Given the description of an element on the screen output the (x, y) to click on. 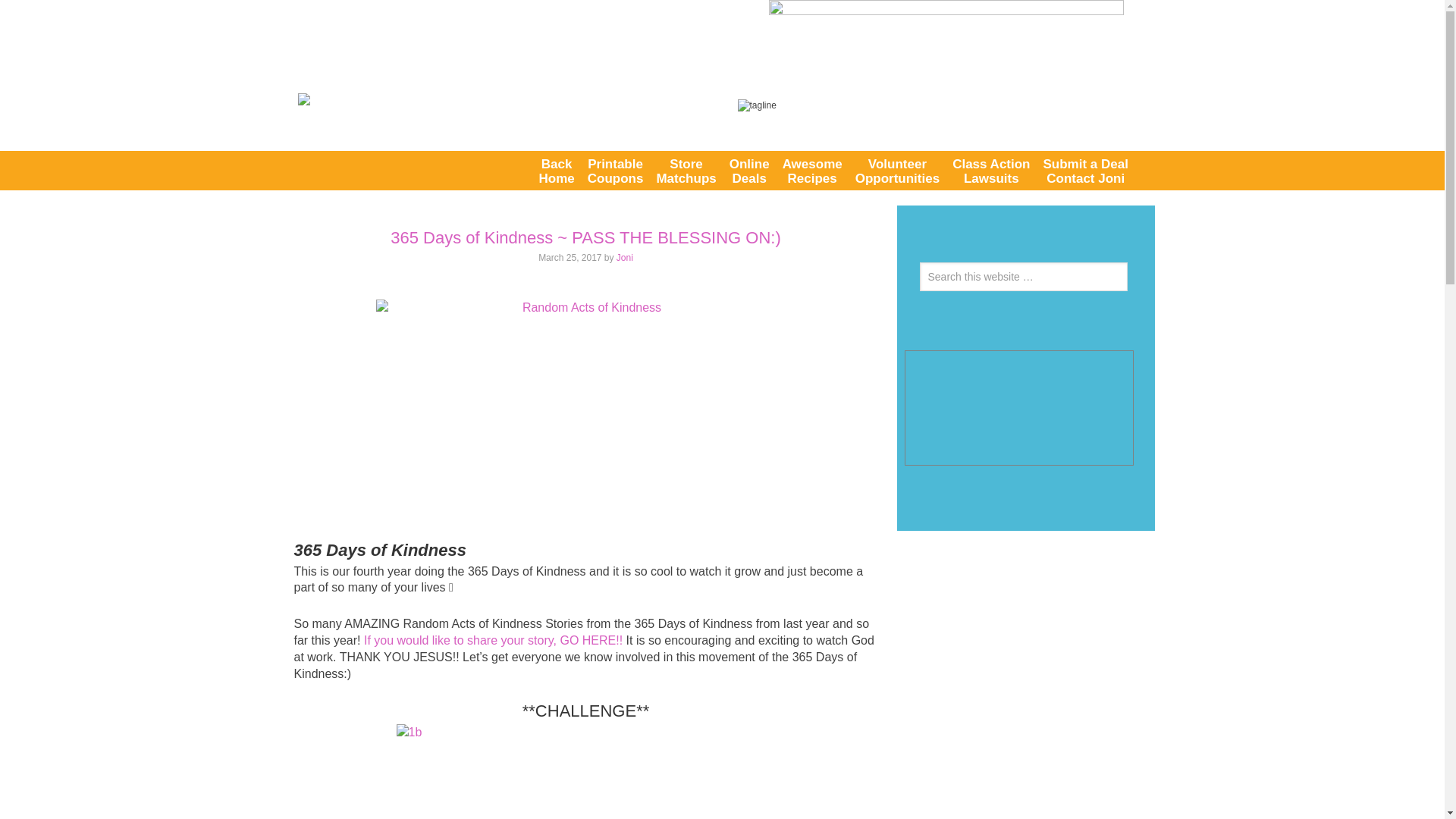
Rndom Acts of Kindness  (615, 170)
FREE TASTES GOOD! (749, 170)
